Given the description of an element on the screen output the (x, y) to click on. 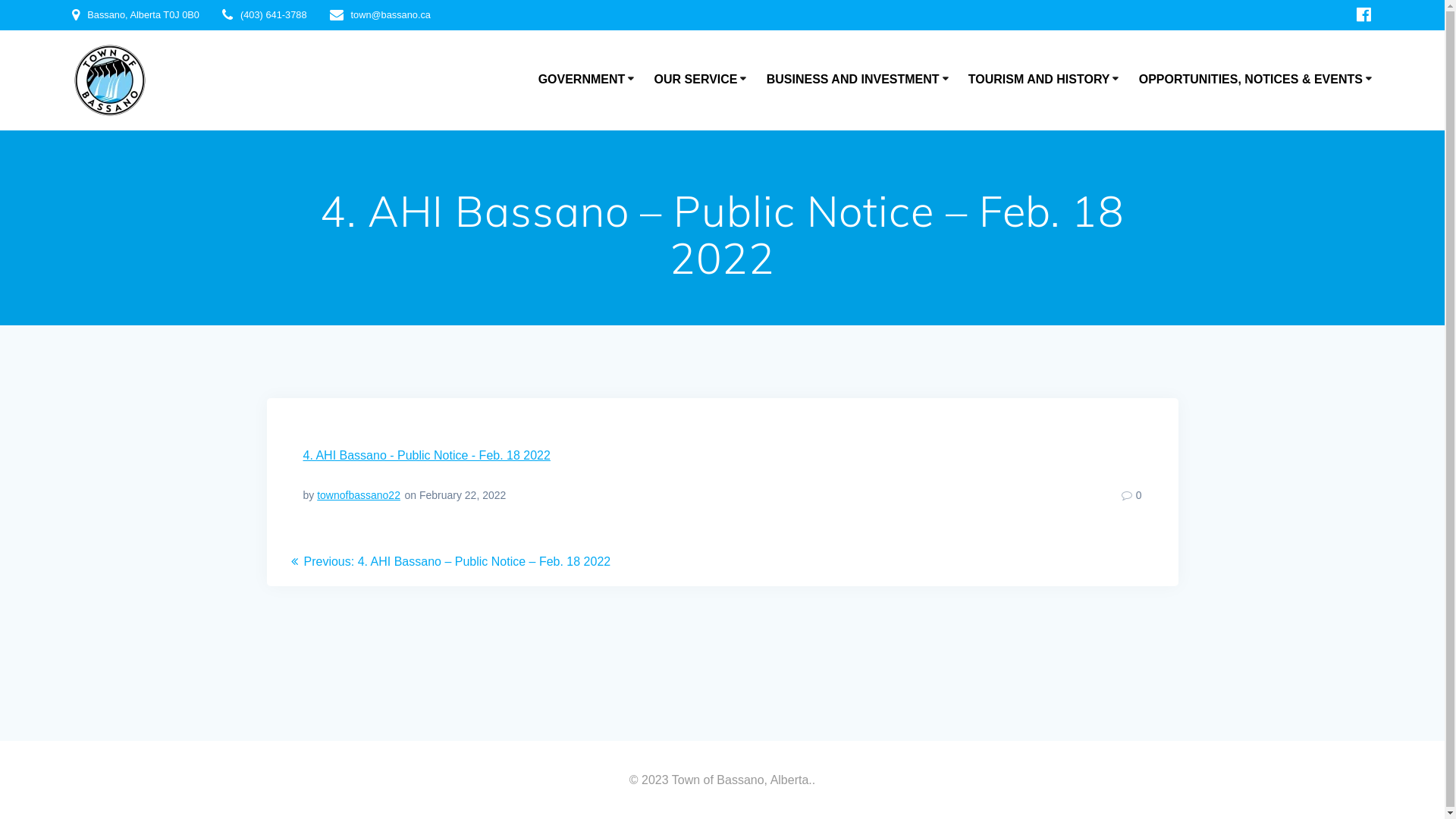
TOURISM AND HISTORY Element type: text (1045, 80)
4. AHI Bassano - Public Notice - Feb. 18 2022 Element type: text (426, 454)
OPPORTUNITIES, NOTICES & EVENTS Element type: text (1257, 80)
townofbassano22 Element type: text (358, 495)
GOVERNMENT Element type: text (588, 80)
BUSINESS AND INVESTMENT Element type: text (859, 80)
OUR SERVICE Element type: text (702, 80)
(403) 641-3788 Element type: text (273, 14)
town@bassano.ca Element type: text (389, 14)
